Given the description of an element on the screen output the (x, y) to click on. 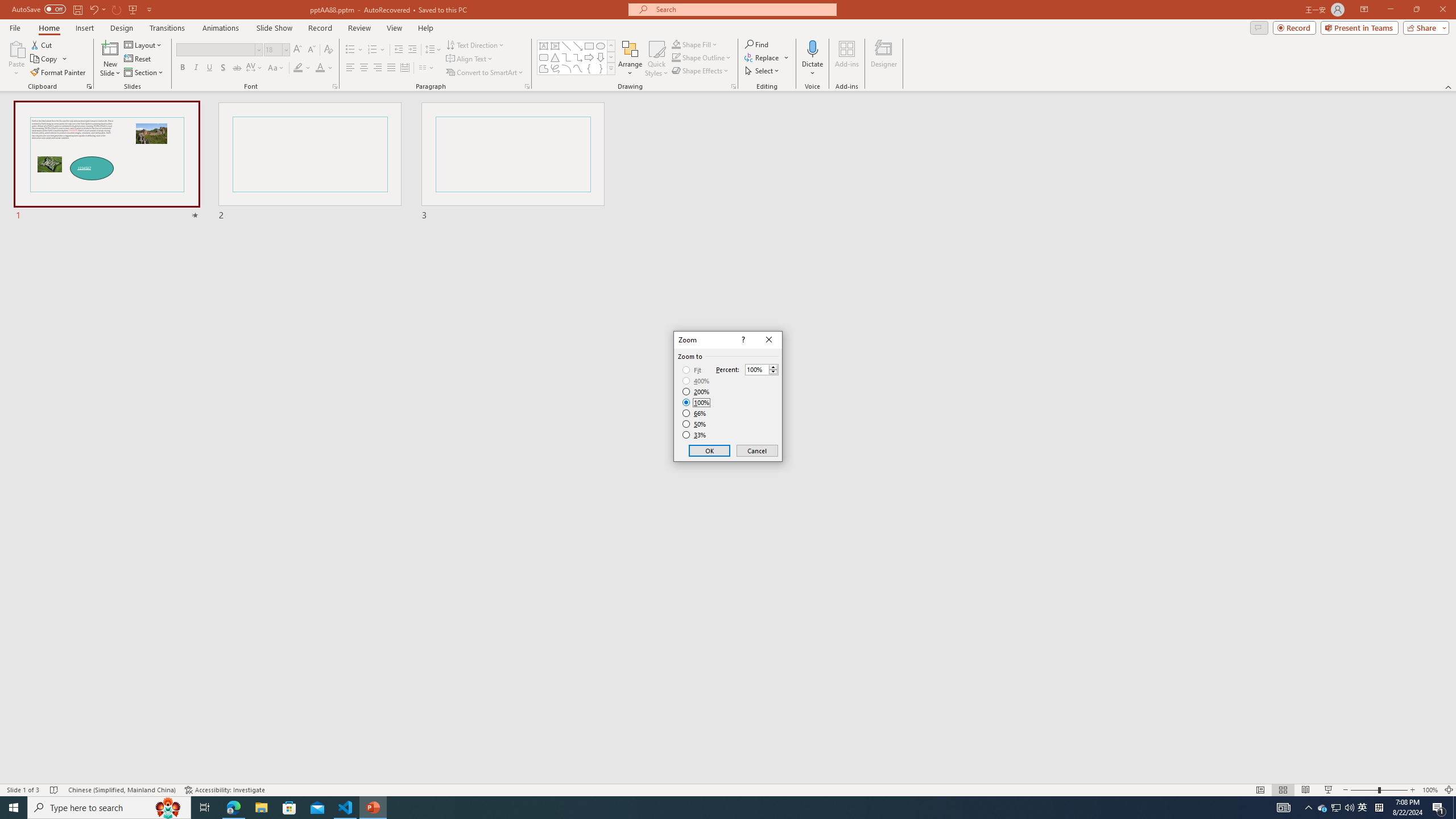
OK (709, 450)
